Given the description of an element on the screen output the (x, y) to click on. 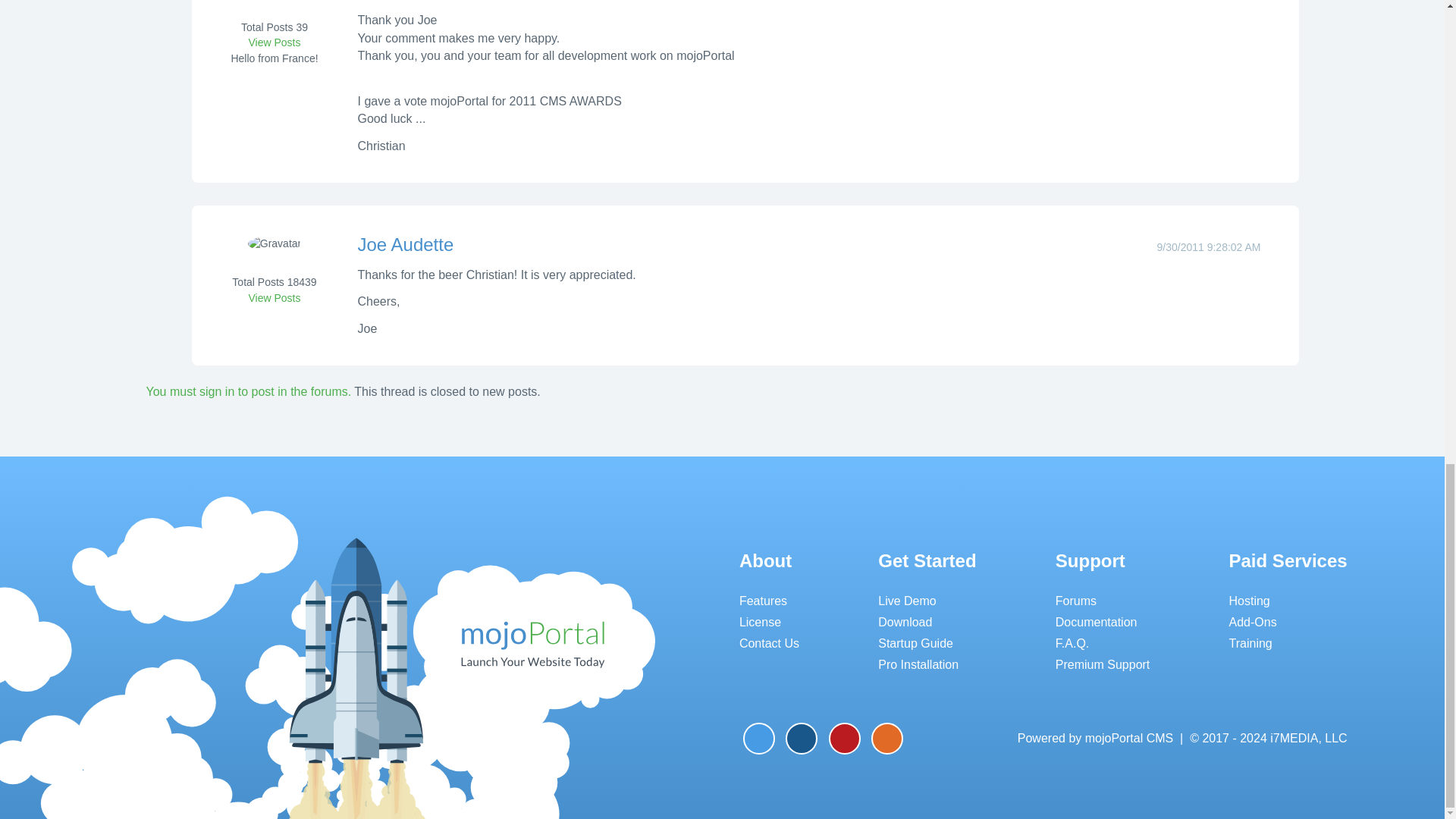
Get your avatar (274, 2)
Visit us on Twitter (758, 738)
Visit our YouTube Channel (844, 738)
Get your avatar (274, 254)
Check us out on Facebook (801, 738)
View our blog's RSS (886, 738)
Visit i7MEDIA (1267, 738)
